Given the description of an element on the screen output the (x, y) to click on. 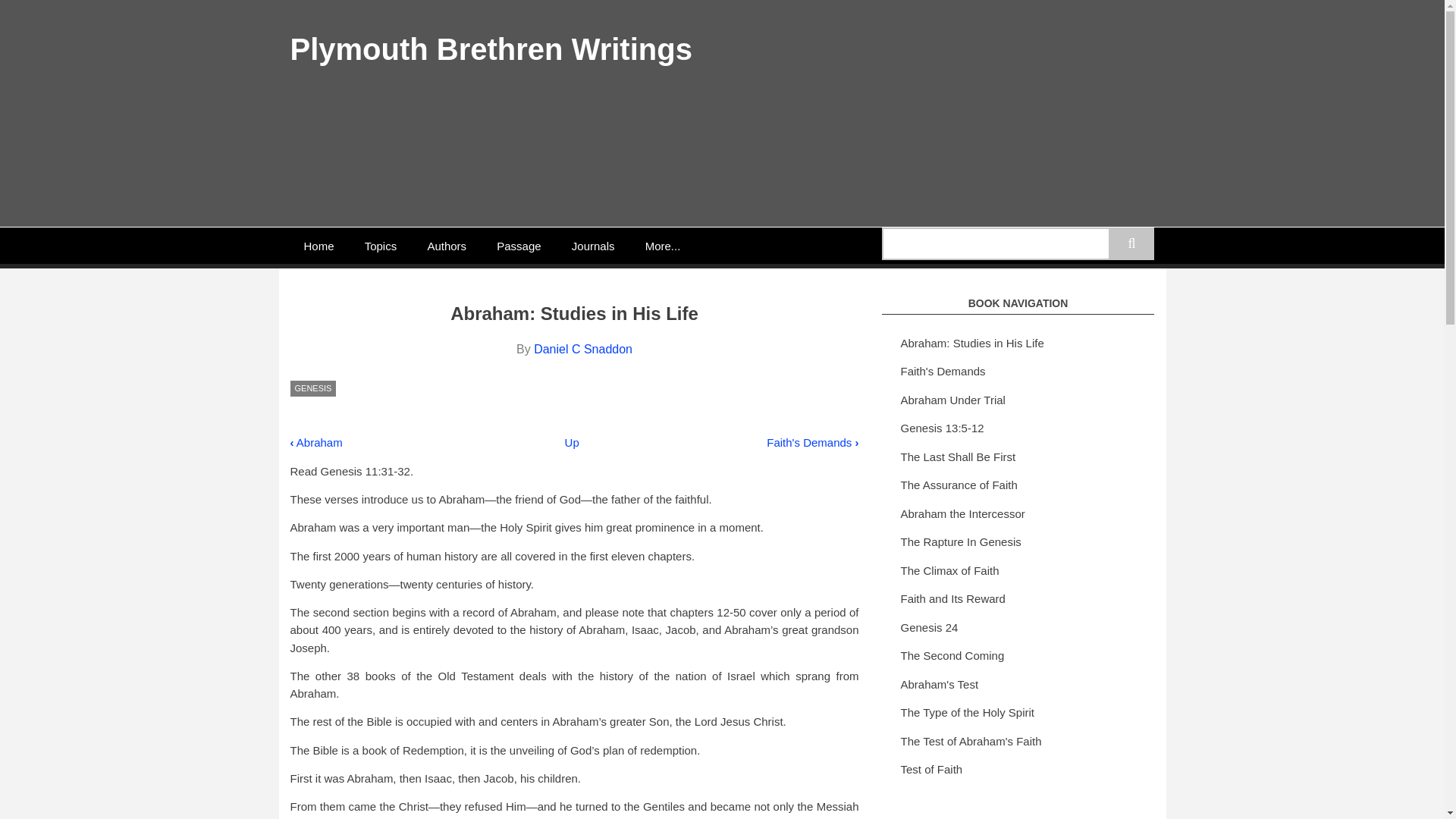
Search (1131, 243)
Passage (518, 245)
The Rapture In Genesis (1017, 542)
Topics (380, 245)
Plymouth Brethren Writings (490, 49)
Journals (592, 245)
Go to previous page (315, 441)
The Assurance of Faith (1017, 485)
View user profile. (582, 349)
Abraham: Studies in His Life (1017, 344)
